Given the description of an element on the screen output the (x, y) to click on. 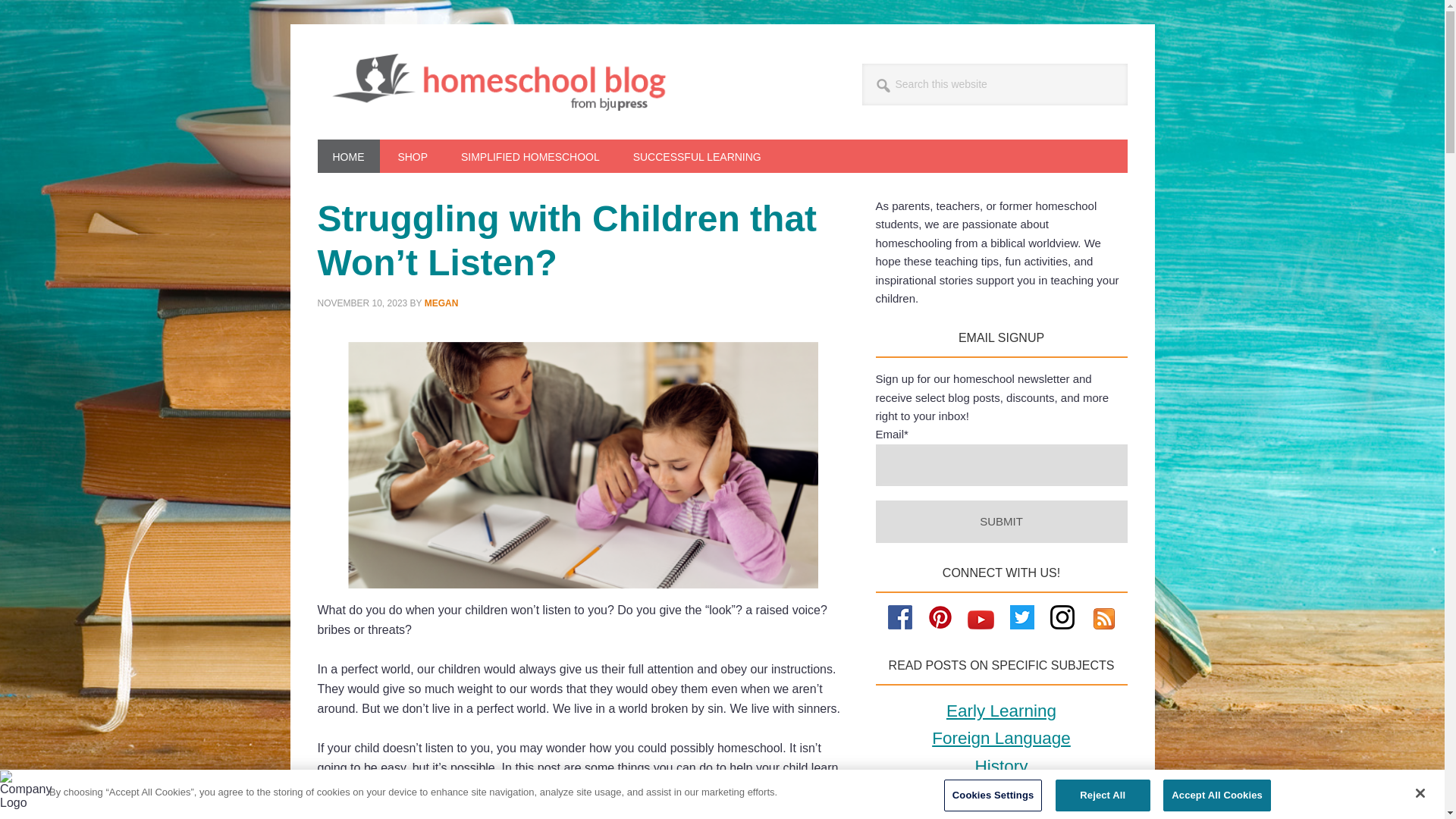
HOME (347, 155)
subscribe on YouTube (981, 625)
SHOP (411, 155)
subscribe to our feed (1104, 625)
SUCCESSFUL LEARNING (696, 155)
MEGAN (441, 303)
like us on Facebook (900, 625)
follow us on Pinterest (940, 625)
follow us on Twitter (1021, 625)
SIMPLIFIED HOMESCHOOL (529, 155)
Company Logo (24, 794)
BJU PRESS BLOG (511, 81)
